Given the description of an element on the screen output the (x, y) to click on. 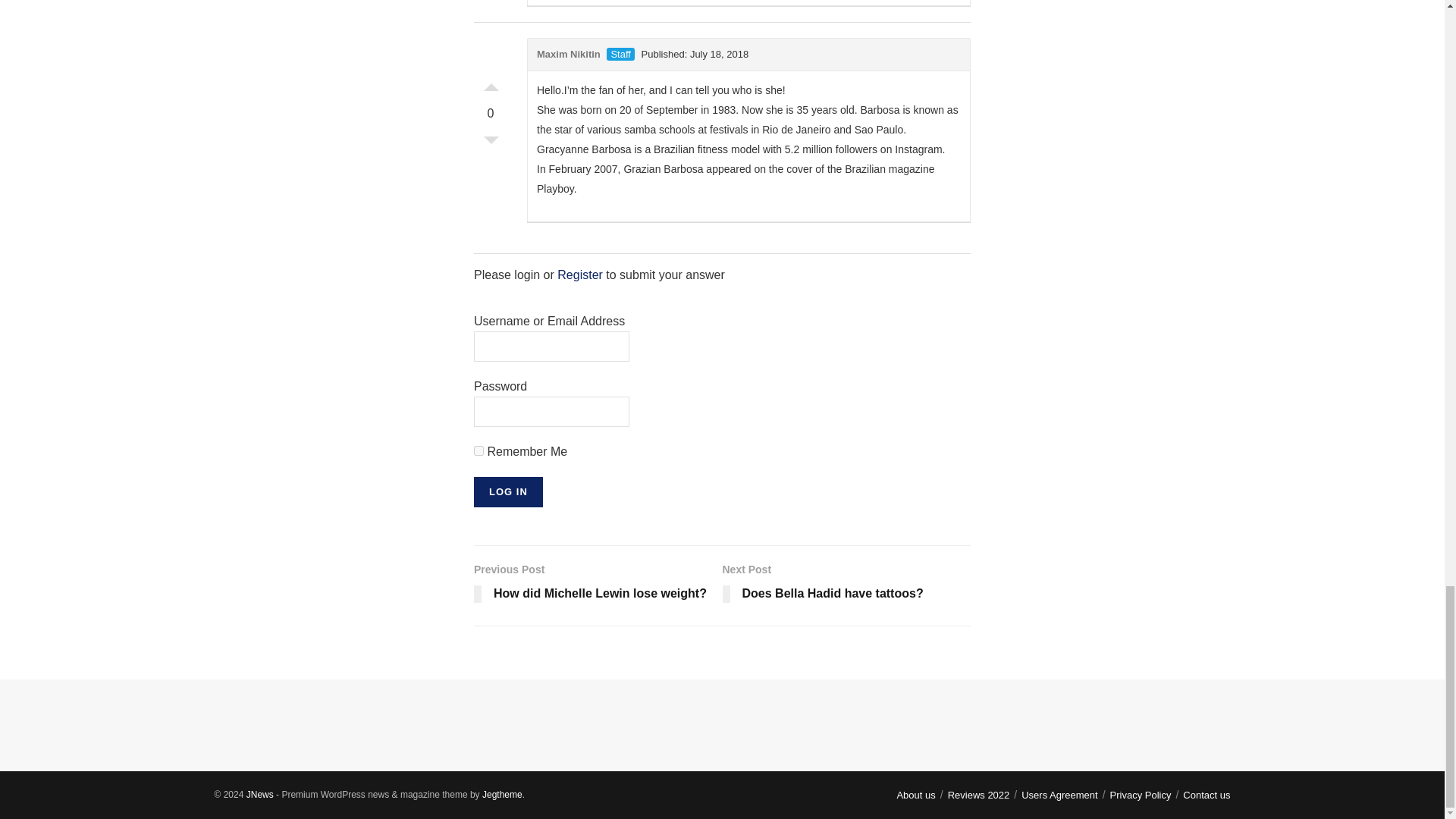
forever (478, 450)
Jegtheme (501, 794)
Log In (508, 491)
